Given the description of an element on the screen output the (x, y) to click on. 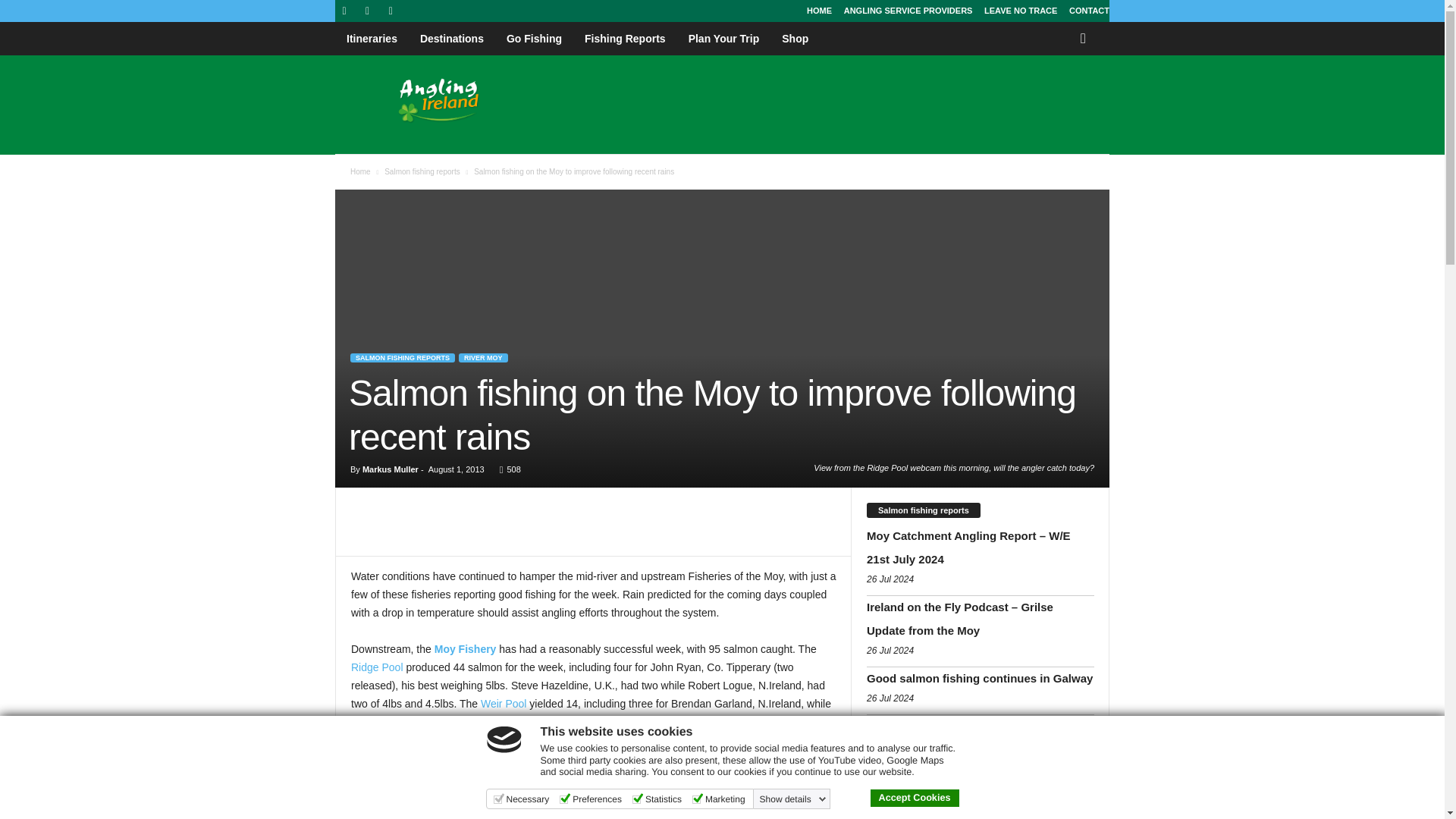
Accept Cookies (914, 798)
Show details (793, 799)
